Given the description of an element on the screen output the (x, y) to click on. 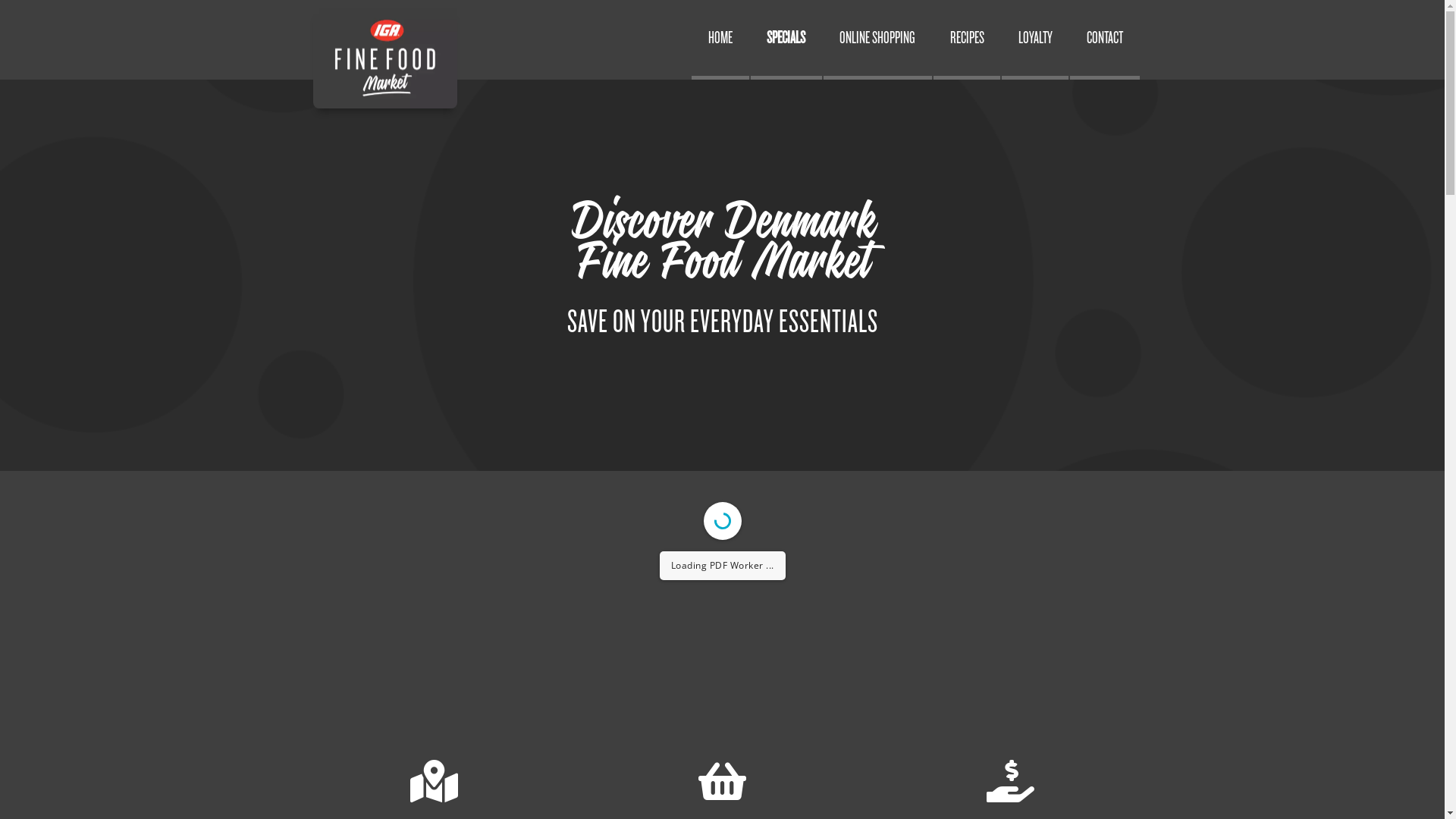
CONTACT Element type: text (1104, 39)
RECIPES Element type: text (966, 39)
Skip to content Element type: text (0, 0)
LOYALTY Element type: text (1034, 39)
SPECIALS Element type: text (786, 39)
ONLINE SHOPPING Element type: text (877, 39)
HOME Element type: text (719, 39)
